Given the description of an element on the screen output the (x, y) to click on. 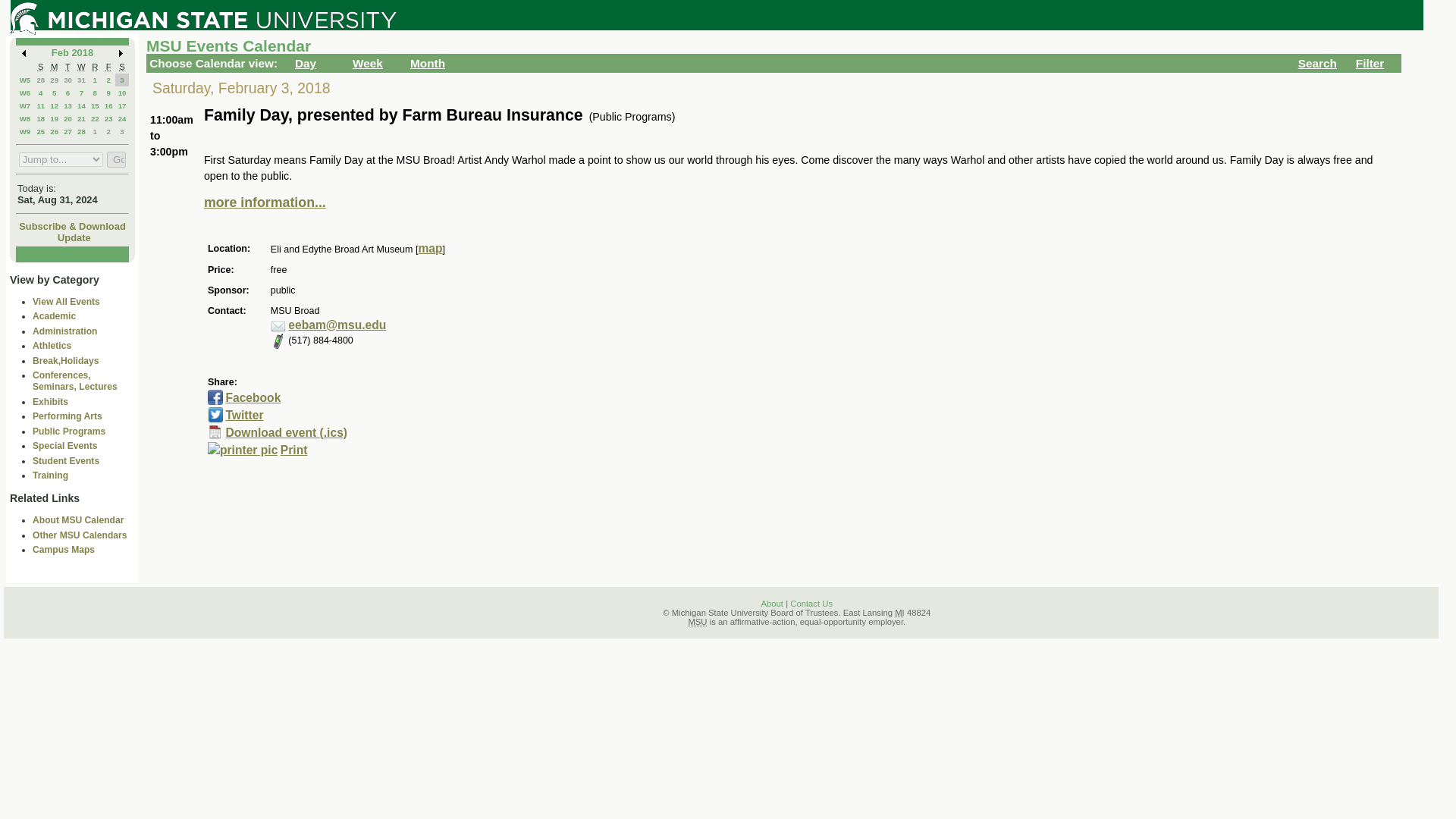
11 (40, 105)
W6 (25, 92)
28 (40, 80)
29 (53, 80)
24 (121, 118)
14 (81, 105)
10 (121, 92)
17 (121, 105)
W9 (25, 131)
20 (67, 118)
